Given the description of an element on the screen output the (x, y) to click on. 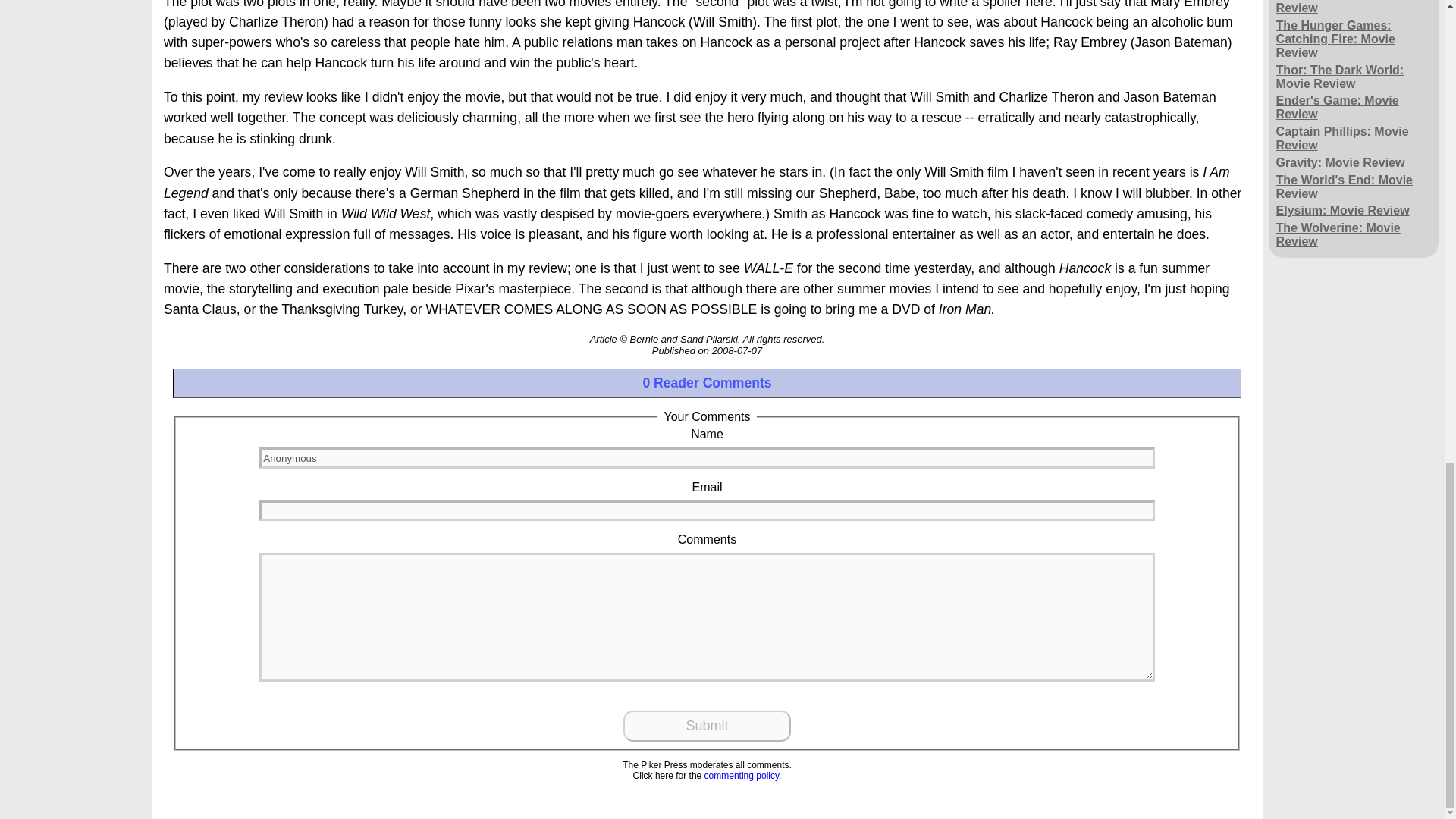
Submit (706, 726)
commenting policy (741, 775)
Submit (706, 726)
Anonymous (706, 457)
